Given the description of an element on the screen output the (x, y) to click on. 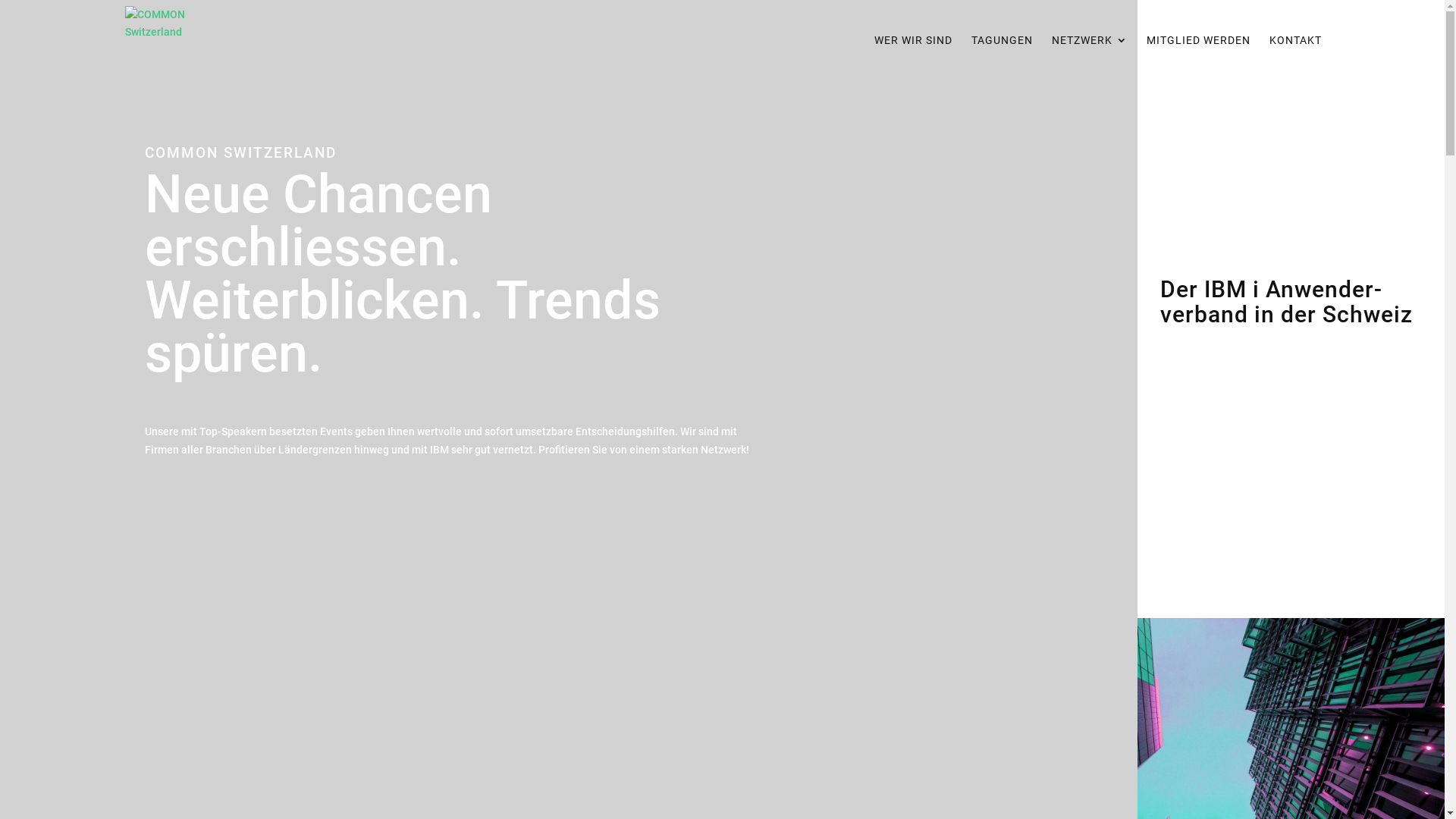
NETZWERK Element type: text (1089, 47)
MITGLIED WERDEN Element type: text (1198, 47)
TAGUNGEN Element type: text (1001, 47)
KONTAKT Element type: text (1295, 47)
WER WIR SIND Element type: text (913, 47)
